Given the description of an element on the screen output the (x, y) to click on. 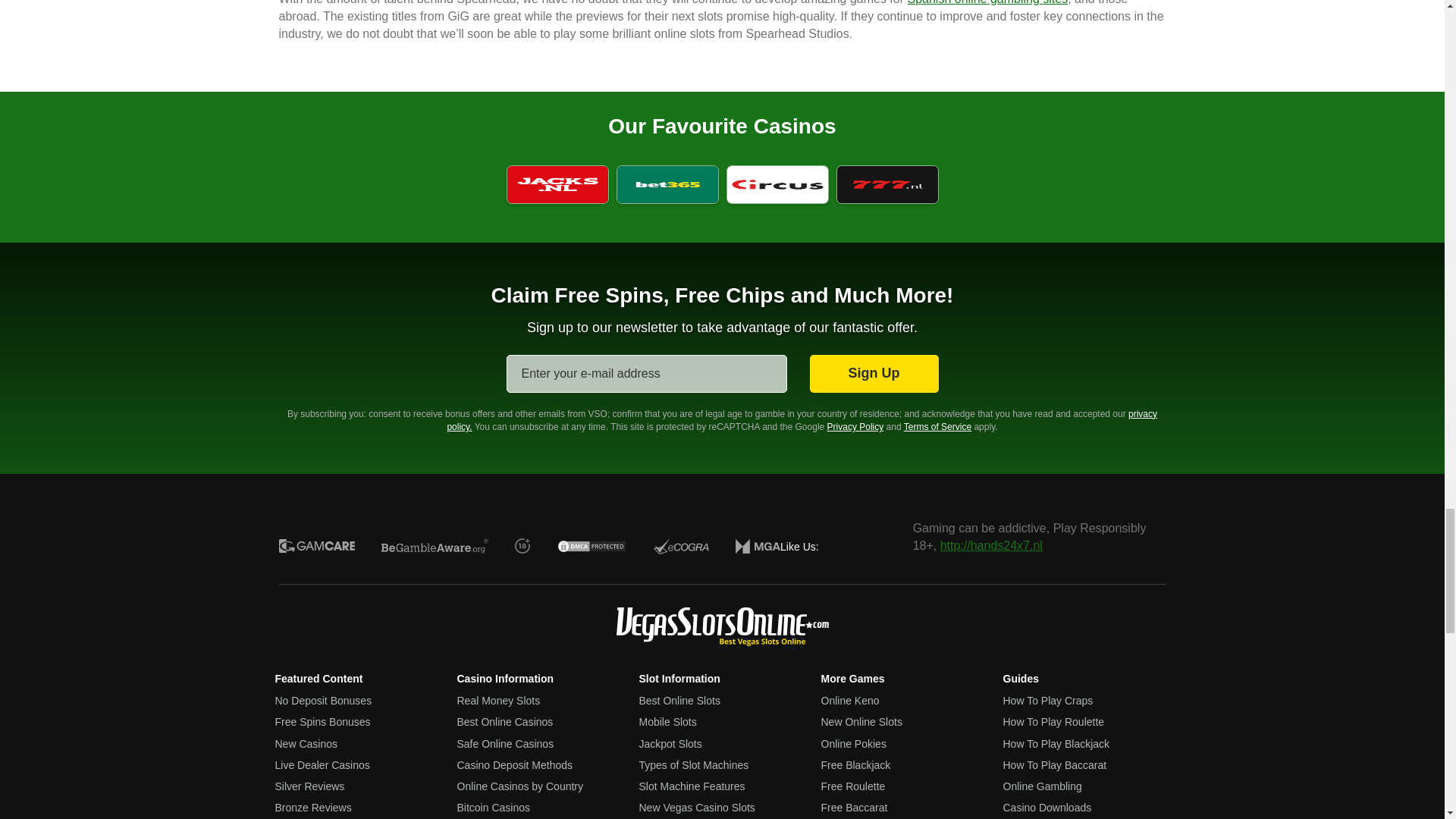
Sign Up (874, 373)
